Given the description of an element on the screen output the (x, y) to click on. 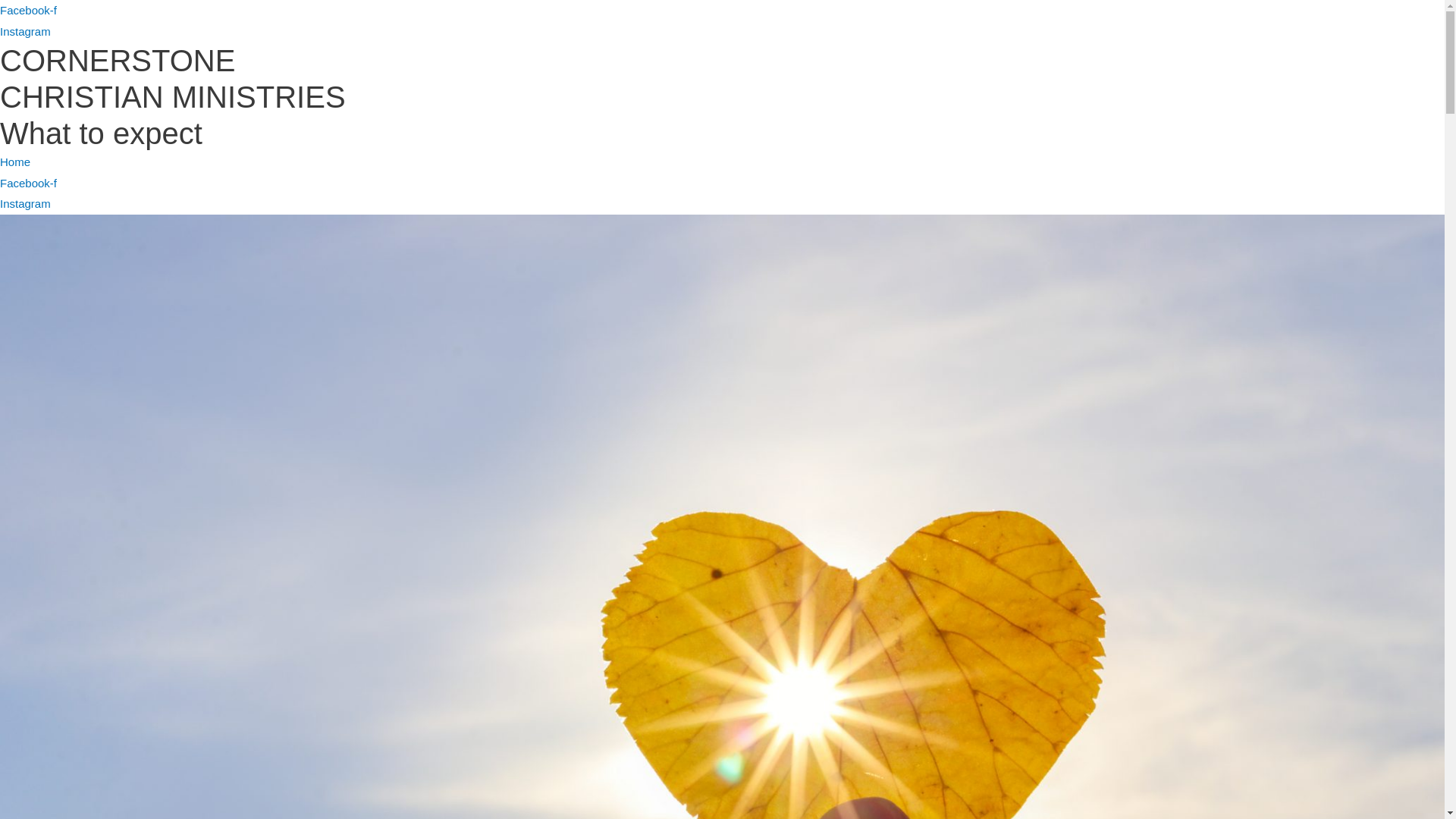
Facebook-f Element type: text (28, 182)
Instagram Element type: text (25, 31)
Facebook-f Element type: text (28, 9)
Instagram Element type: text (25, 203)
Home Element type: text (15, 161)
